Given the description of an element on the screen output the (x, y) to click on. 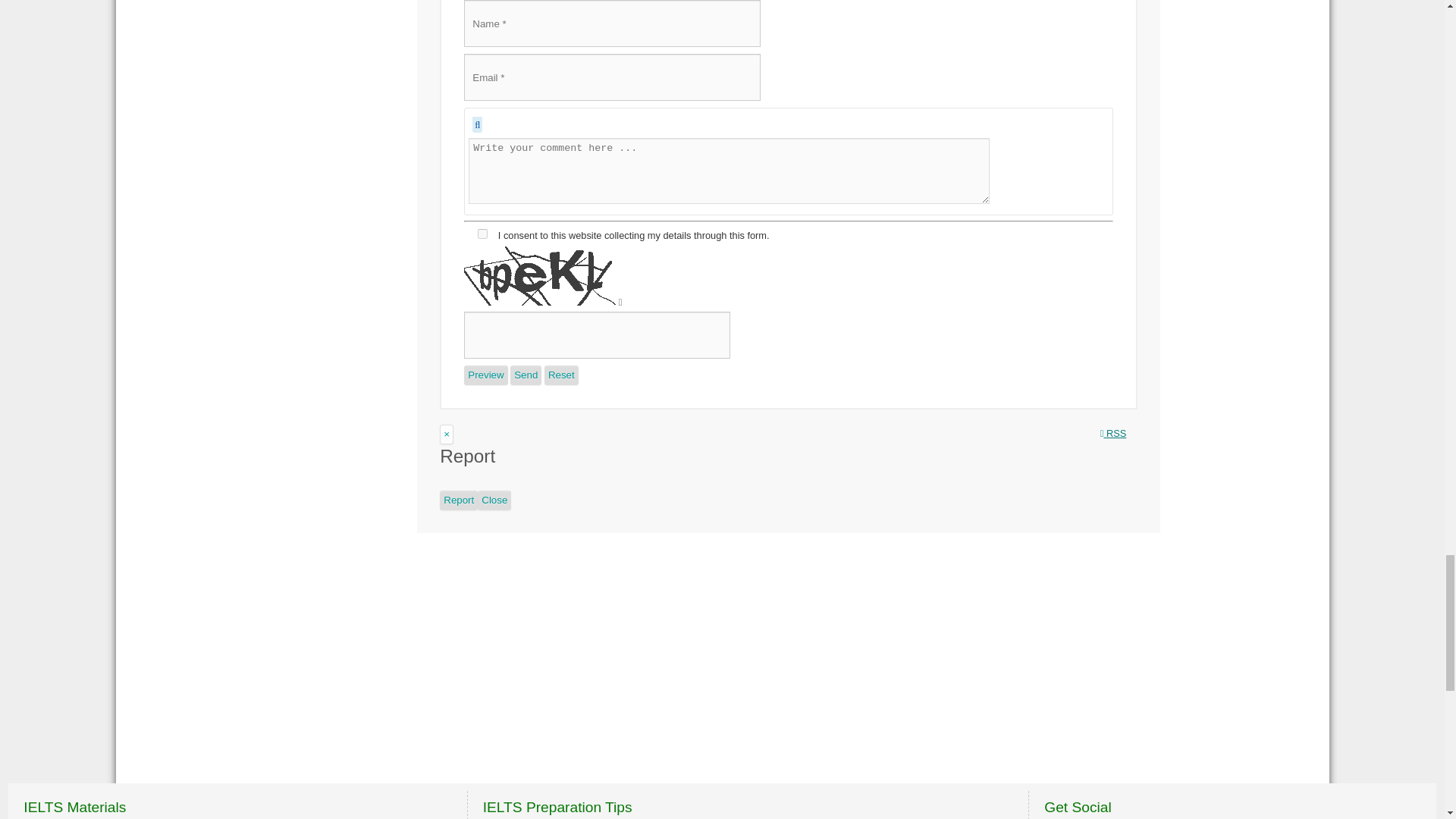
1 (482, 234)
